Given the description of an element on the screen output the (x, y) to click on. 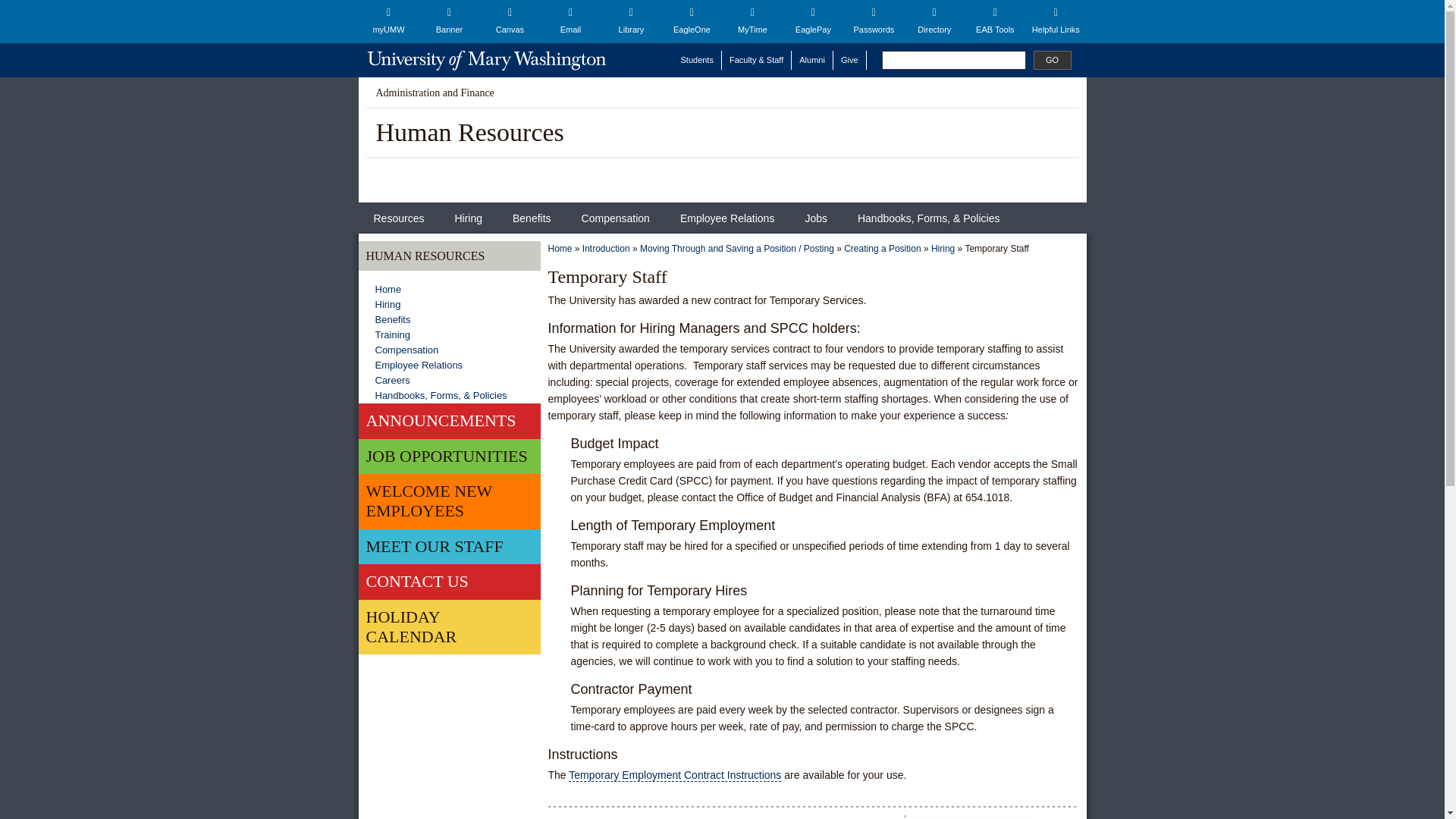
Human Resources (469, 131)
Email (569, 21)
Home (486, 59)
Helpful Links (1055, 21)
search (952, 59)
Go to Administration and Finance site (435, 92)
Students (697, 59)
Banner (449, 21)
Resources (398, 217)
Administration and Finance (435, 92)
EaglePay (813, 21)
Go (1051, 59)
Go (1051, 59)
EAB Tools (994, 21)
Canvas (509, 21)
